Given the description of an element on the screen output the (x, y) to click on. 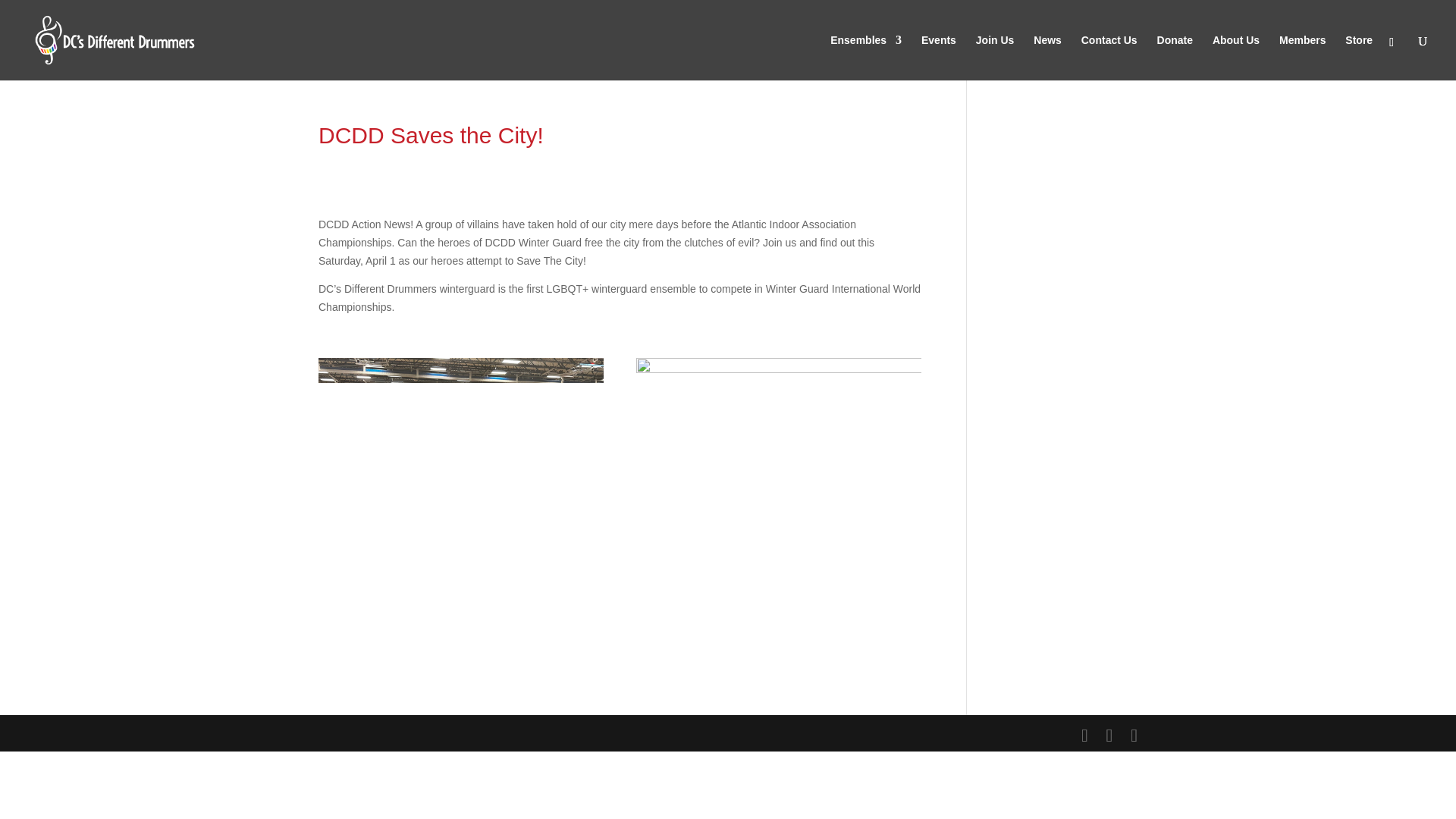
Members (1301, 57)
Contact Us (1109, 57)
Ensembles (865, 57)
About Us (1235, 57)
